Given the description of an element on the screen output the (x, y) to click on. 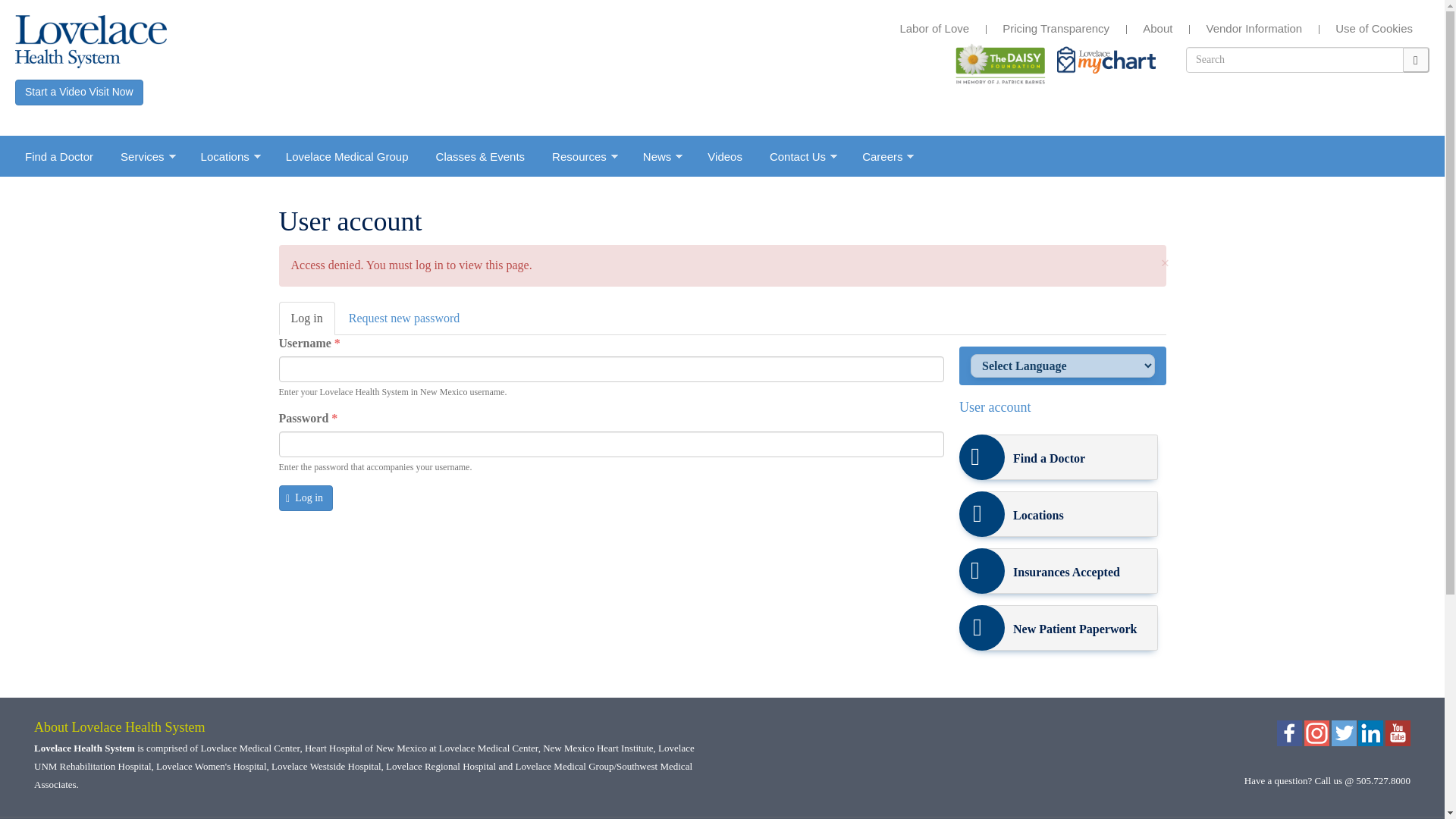
Pricing Transparency (1056, 28)
Start a Video Visit Now (78, 92)
Vendor Information (1253, 28)
Find a Doctor (58, 155)
Use of Cookies (1373, 28)
Labor of Love (933, 28)
About (1157, 28)
